Given the description of an element on the screen output the (x, y) to click on. 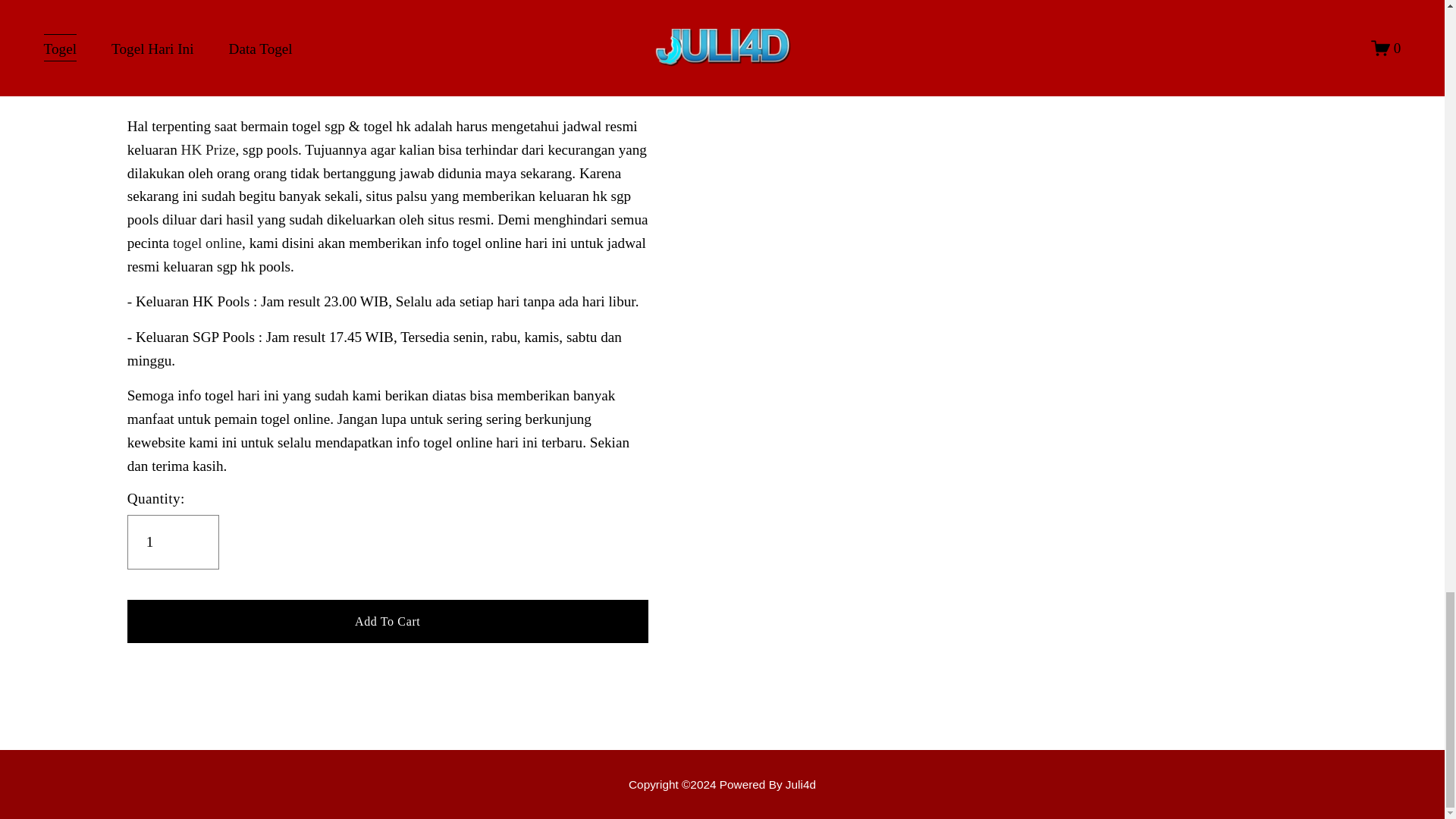
1 (173, 542)
Add To Cart (387, 620)
Keluaran HK (721, 784)
HK Prize (207, 149)
togel online (207, 242)
